Given the description of an element on the screen output the (x, y) to click on. 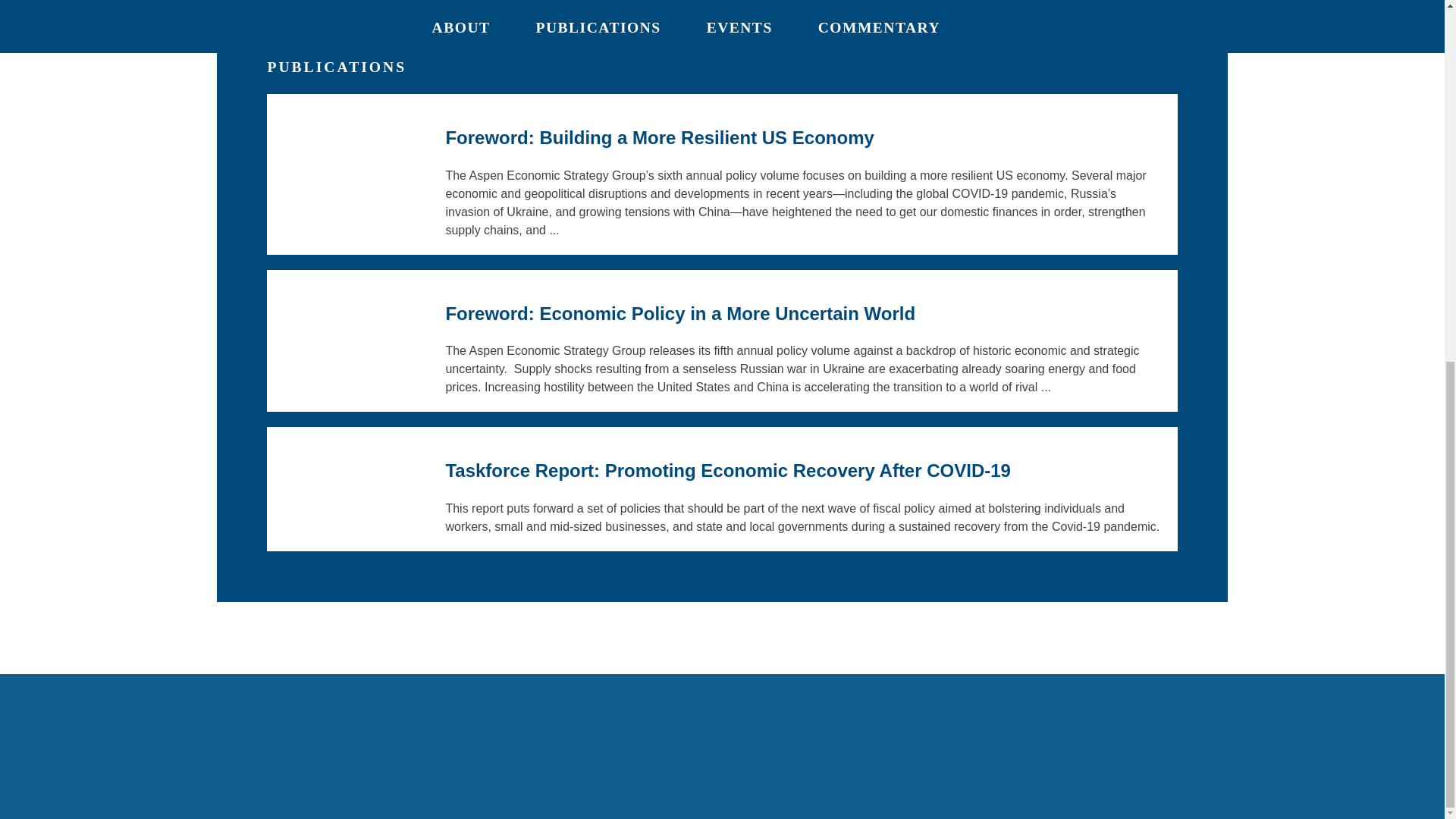
Taskforce Report: Promoting Economic Recovery After COVID-19 (727, 470)
Foreword: Economic Policy in a More Uncertain World (680, 313)
Foreword: Building a More Resilient US Economy (659, 137)
